Given the description of an element on the screen output the (x, y) to click on. 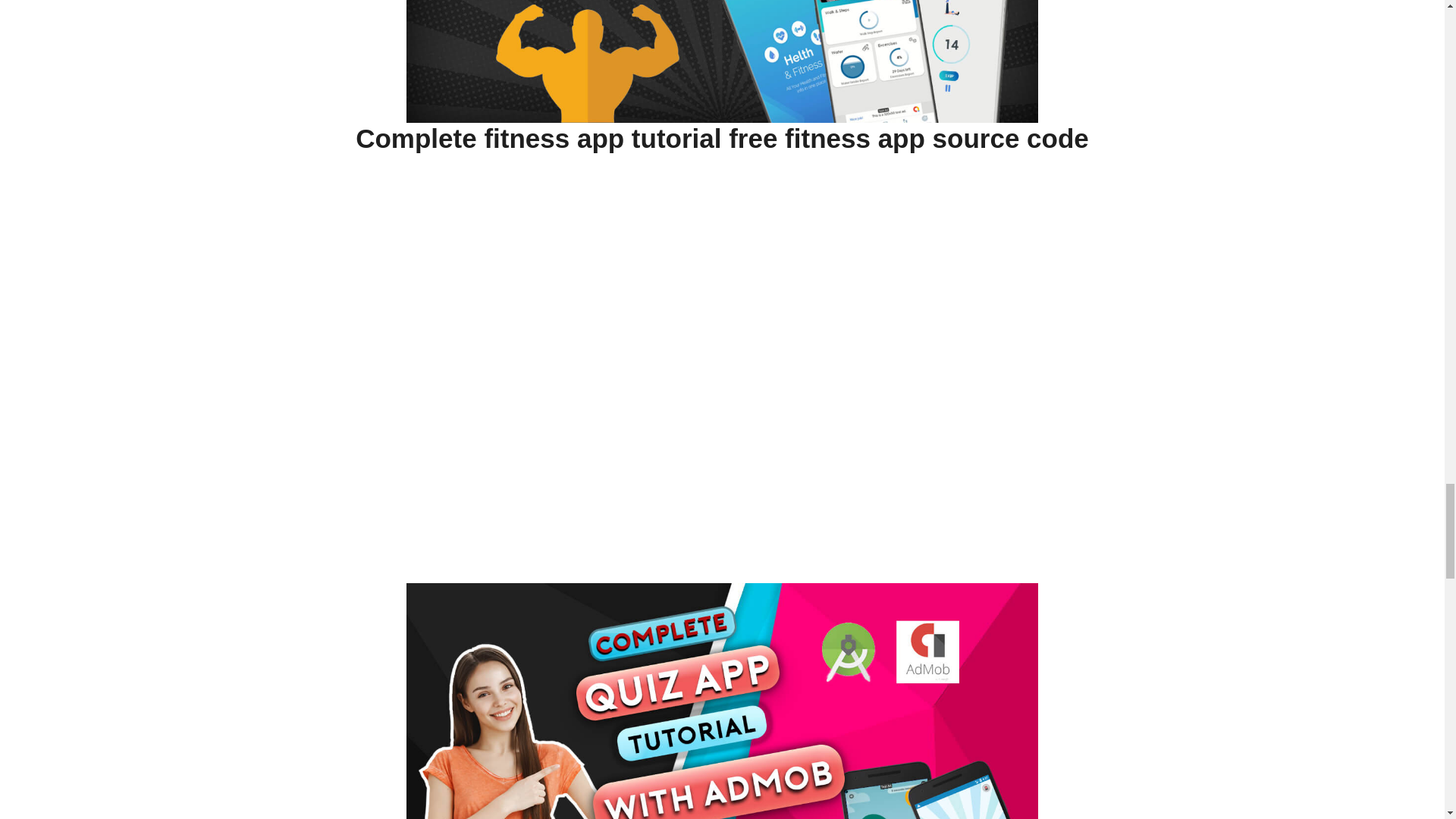
Complete fitness app tutorial free fitness app source code (721, 138)
